Given the description of an element on the screen output the (x, y) to click on. 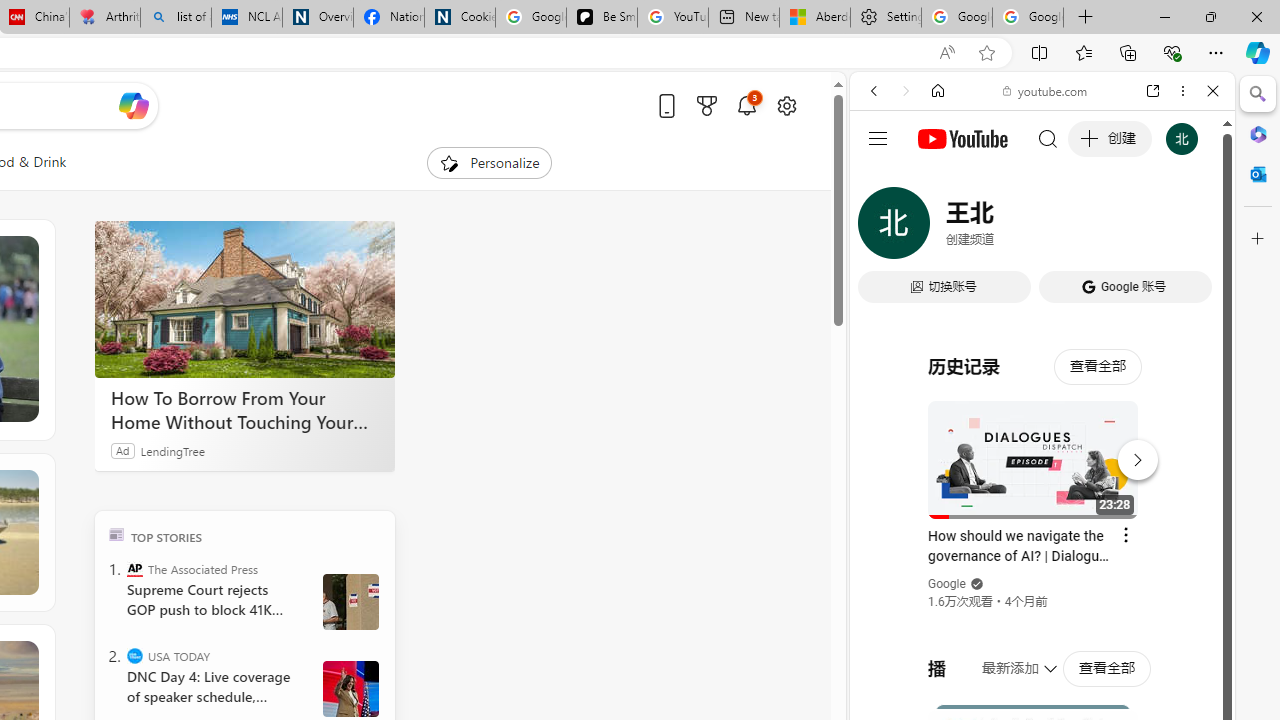
NCL Adult Asthma Inhaler Choice Guideline (246, 17)
USA TODAY (134, 655)
Restore (1210, 16)
Home (938, 91)
Search (1258, 94)
Settings (886, 17)
Search Filter, IMAGES (939, 228)
Open Copilot (132, 105)
